Given the description of an element on the screen output the (x, y) to click on. 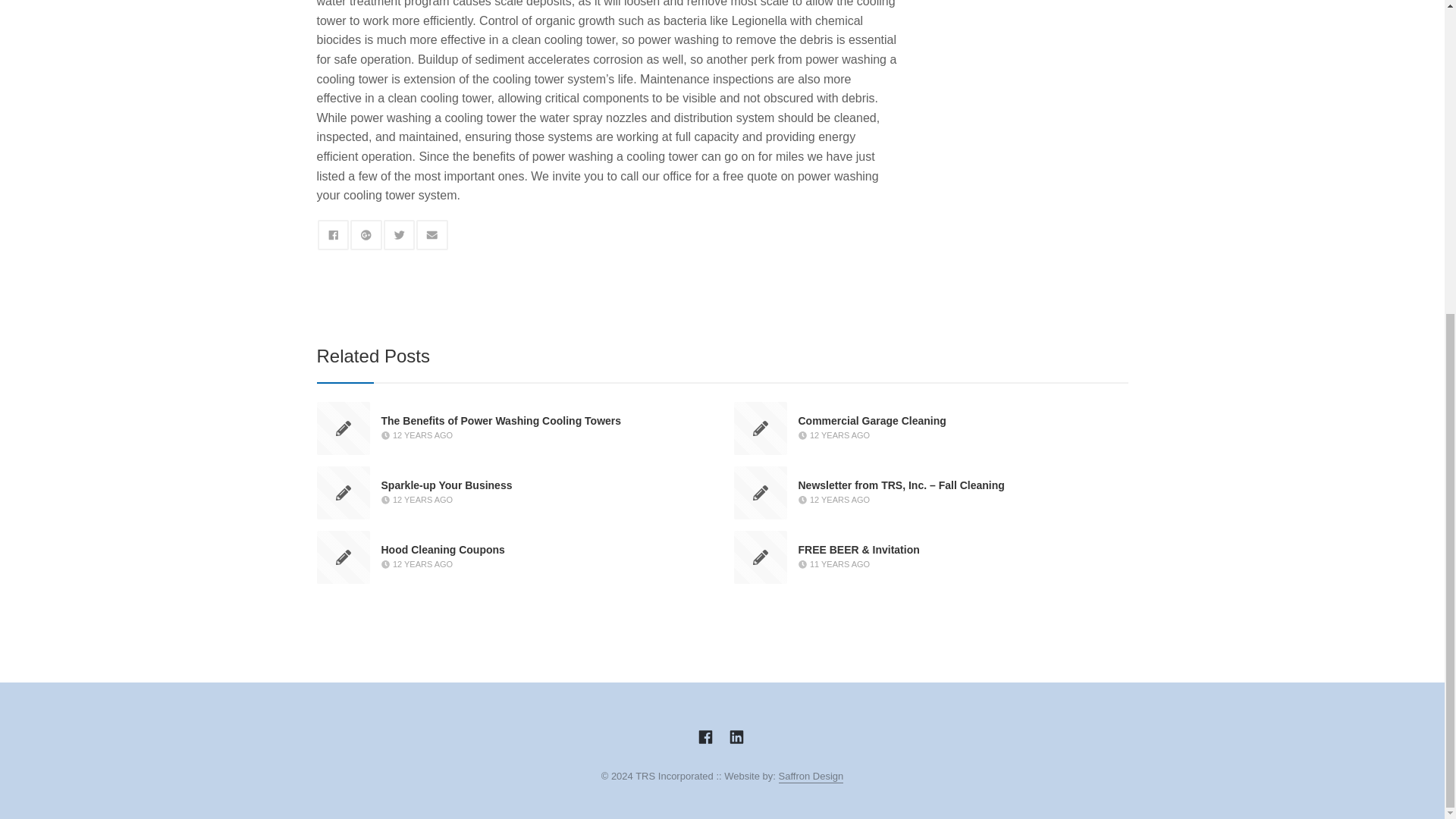
The Benefits of Power Washing Cooling Towers (500, 420)
Hood Cleaning Coupons (441, 549)
The Benefits of Power Washing Cooling Towers (500, 420)
Hood Cleaning Coupons (441, 549)
Sparkle-up Your Business (446, 485)
Commercial Garage Cleaning (870, 420)
Commercial Garage Cleaning (870, 420)
Sparkle-up Your Business (446, 485)
